Given the description of an element on the screen output the (x, y) to click on. 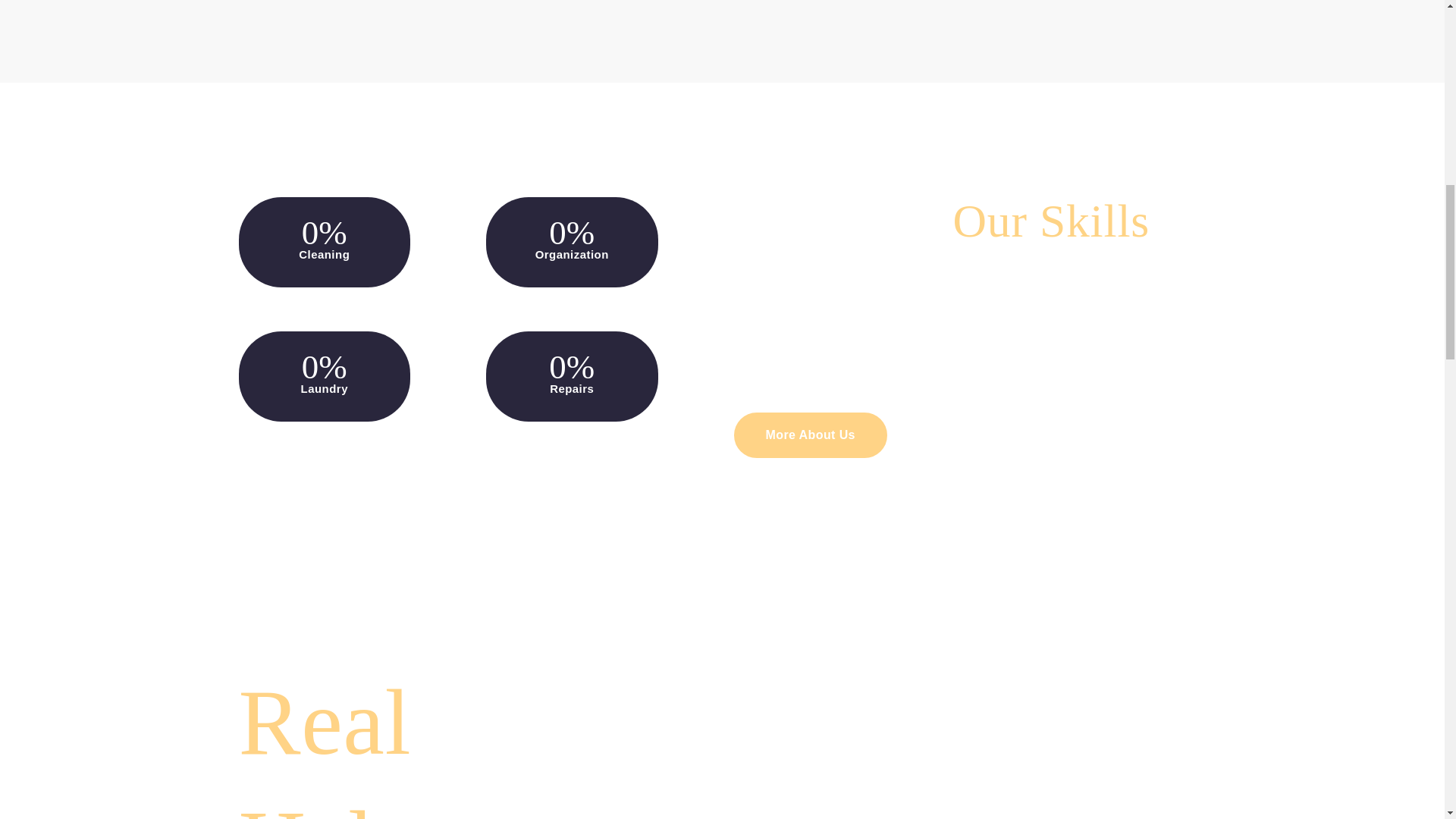
More About Us (809, 434)
